Given the description of an element on the screen output the (x, y) to click on. 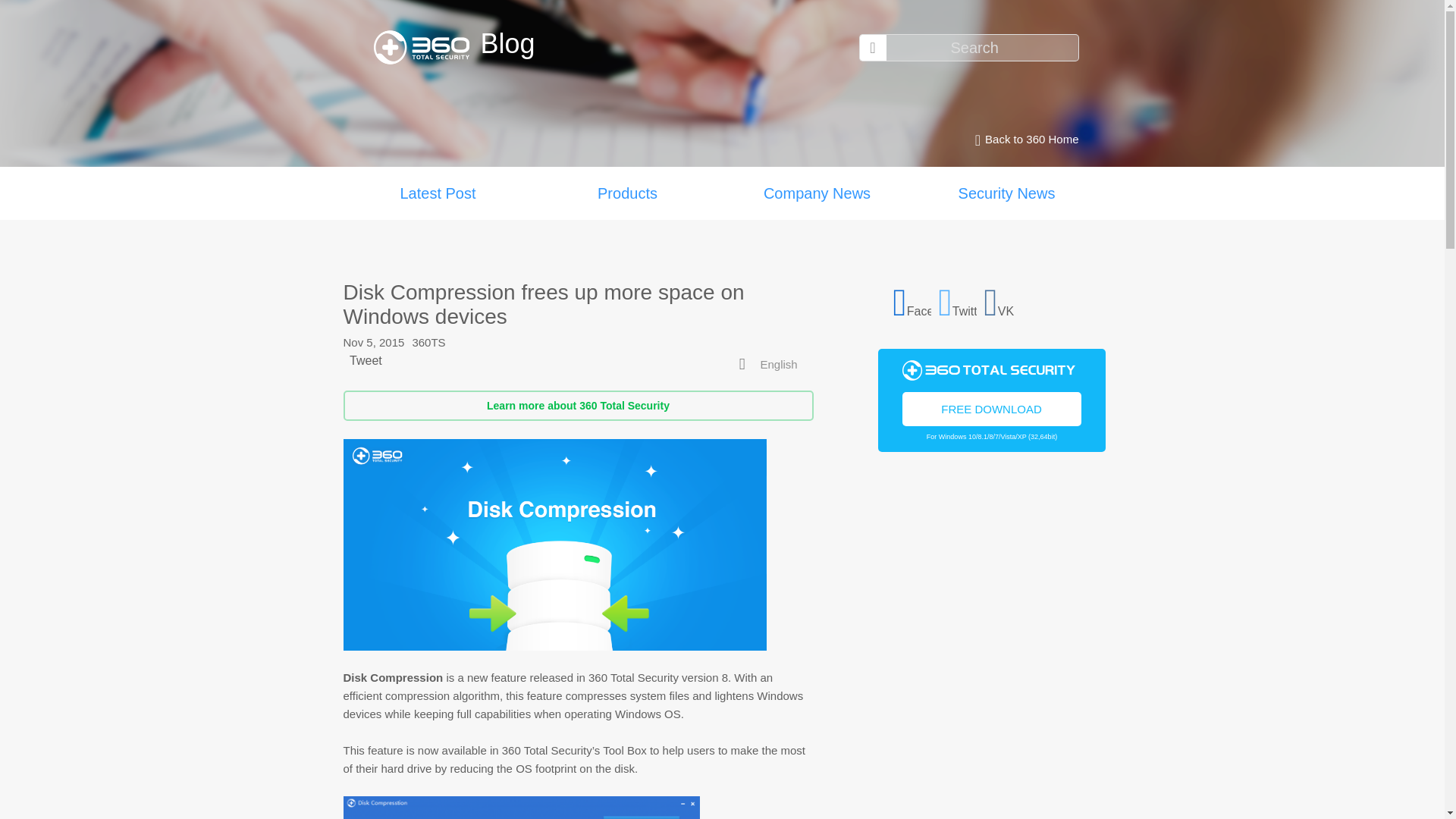
Back to 360 Home (1022, 140)
Facebook (912, 299)
Free Download (991, 408)
Tweet (365, 359)
Company News (816, 193)
Products (627, 193)
360 Total Security Blog Logo (426, 47)
Learn more about 360 Total Security (577, 405)
VK (1003, 299)
Twitter (957, 299)
Latest Post (437, 193)
Learn more about 360 Total Security (577, 405)
FREE DOWNLOAD (991, 408)
Security News (1005, 193)
